Given the description of an element on the screen output the (x, y) to click on. 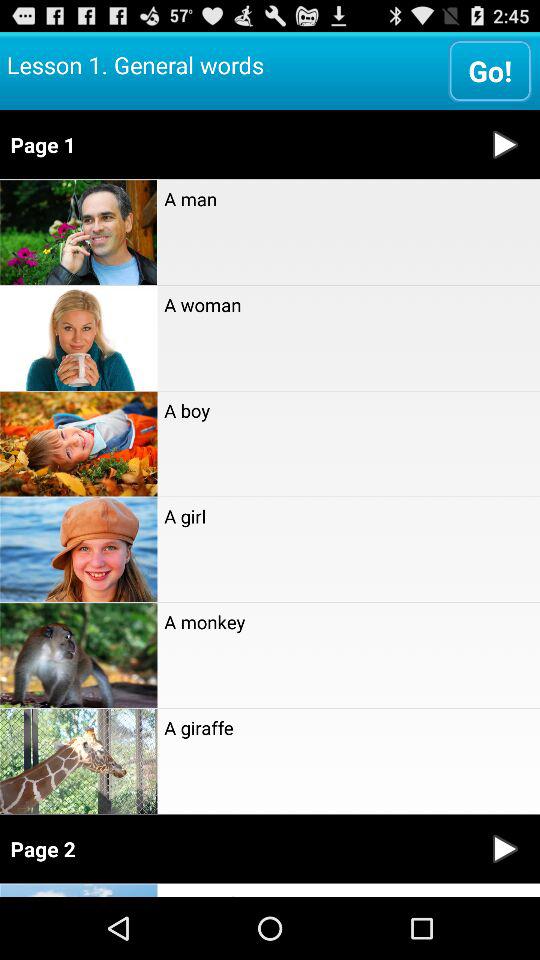
launch go! button (490, 70)
